Given the description of an element on the screen output the (x, y) to click on. 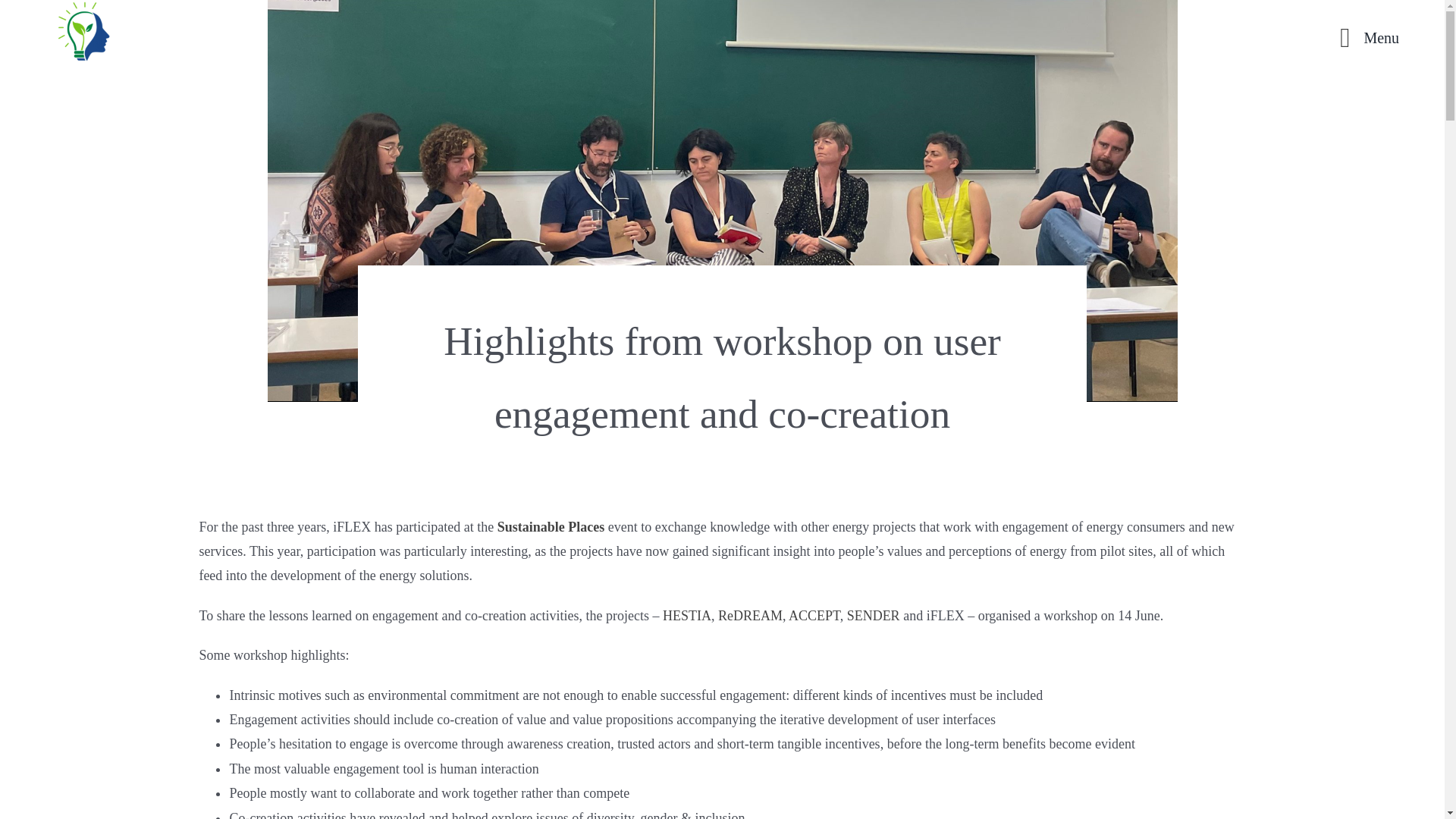
Menu (1362, 38)
HESTIA (686, 615)
SENDER (873, 615)
Sustainable Places (551, 526)
ACCEPT (814, 615)
ReDREAM (750, 615)
